Given the description of an element on the screen output the (x, y) to click on. 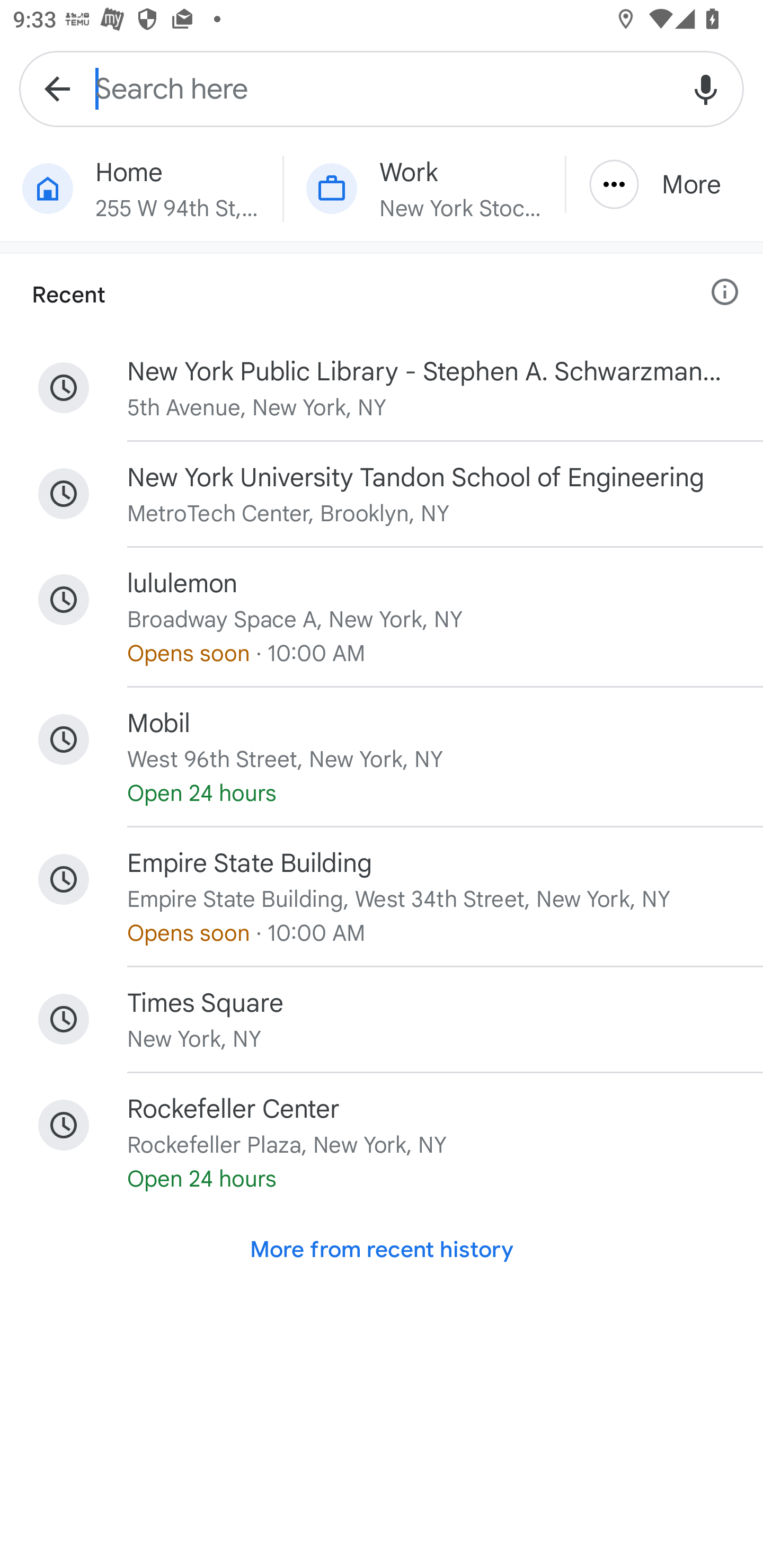
Navigate up (57, 88)
Search here (381, 88)
Voice search (705, 88)
More (664, 184)
Mobil West 96th Street, New York, NY Open 24 hours (381, 757)
Times Square New York, NY (381, 1018)
More from recent history (381, 1249)
